Given the description of an element on the screen output the (x, y) to click on. 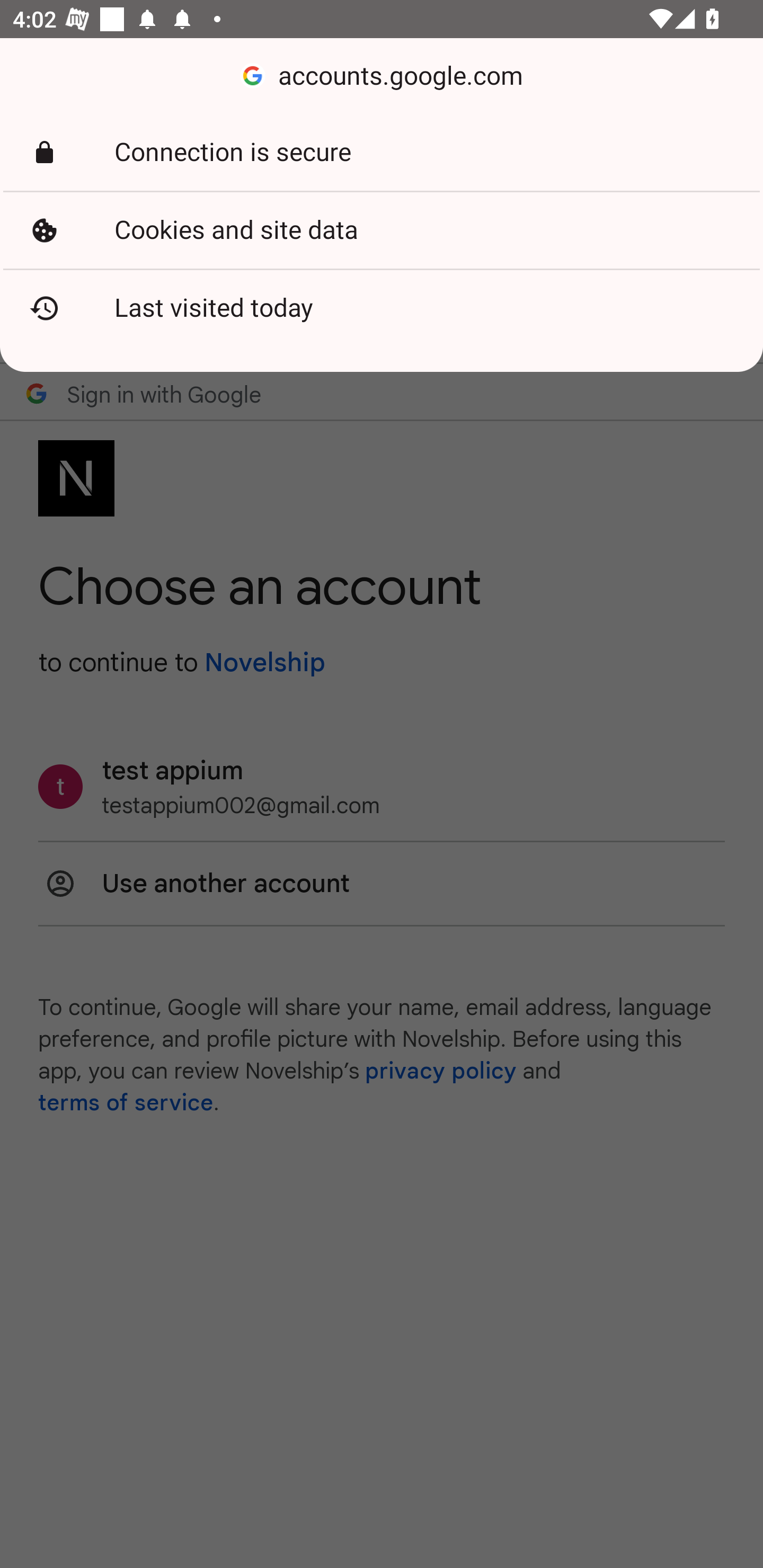
accounts.google.com (381, 75)
Connection is secure (381, 152)
Cookies and site data (381, 230)
Last visited today (381, 307)
